Given the description of an element on the screen output the (x, y) to click on. 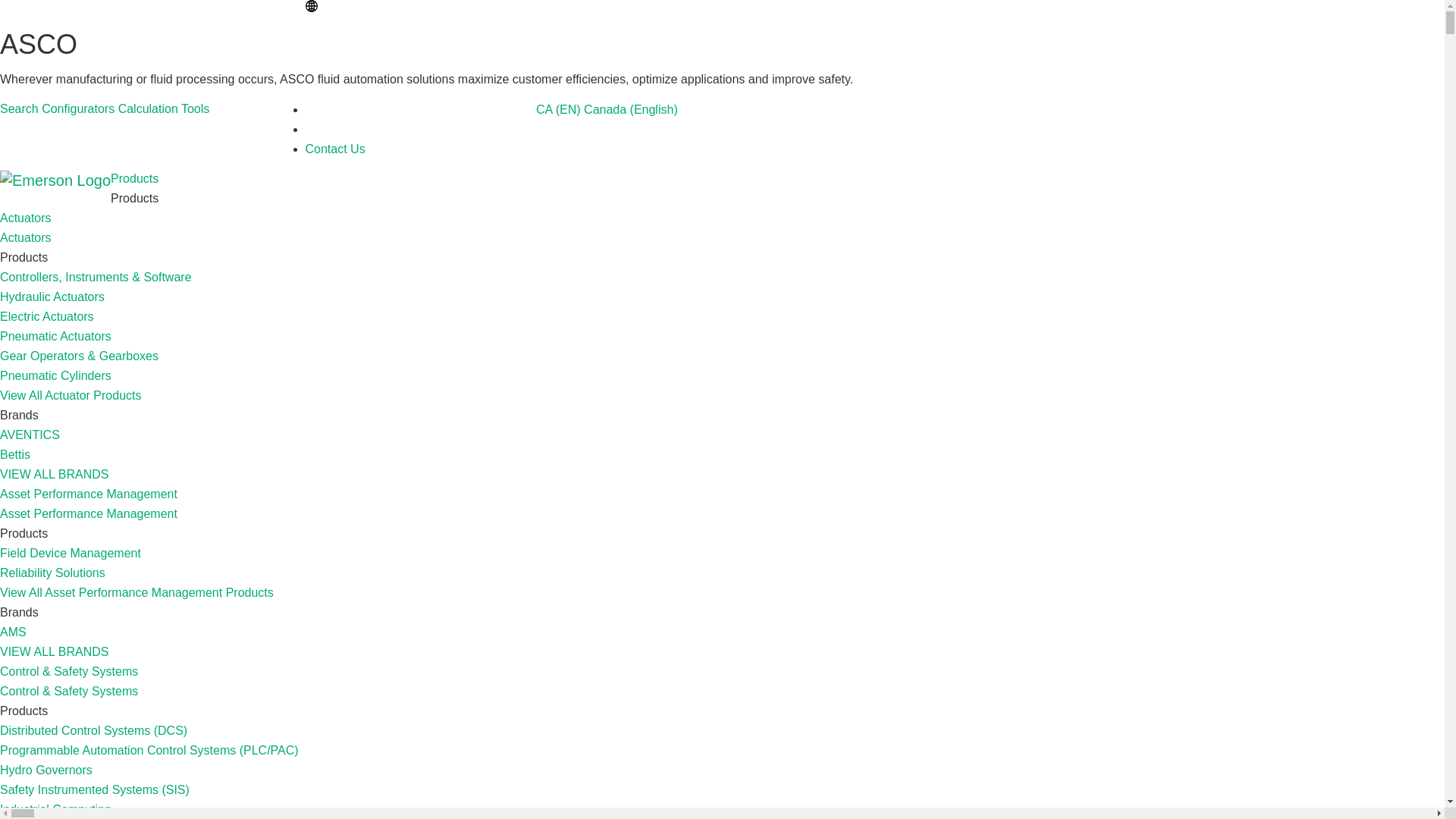
Asset Performance Management Element type: text (88, 513)
CA (EN) Canada (English) Element type: text (490, 109)
Control & Safety Systems Element type: text (69, 690)
Programmable Automation Control Systems (PLC/PAC) Element type: text (149, 749)
Hydraulic Actuators Element type: text (52, 296)
View All Actuator Products Element type: text (70, 395)
Calculation Tools Element type: text (164, 108)
Control & Safety Systems Element type: text (69, 671)
Actuators Element type: text (25, 217)
Products Element type: text (134, 178)
AMS Element type: text (13, 631)
Industrial Computing Element type: text (55, 809)
Controllers, Instruments & Software Element type: text (95, 276)
Gear Operators & Gearboxes Element type: text (79, 355)
Electric Actuators Element type: text (47, 316)
VIEW ALL BRANDS Element type: text (54, 651)
Safety Instrumented Systems (SIS) Element type: text (94, 789)
Pneumatic Cylinders Element type: text (55, 375)
Search Configurators Element type: text (59, 108)
Hydro Governors Element type: text (46, 769)
Pneumatic Actuators Element type: text (55, 335)
AVENTICS Element type: text (29, 434)
Contact Us Element type: text (334, 148)
Asset Performance Management Element type: text (88, 493)
Reliability Solutions Element type: text (52, 572)
Bettis Element type: text (15, 454)
Distributed Control Systems (DCS) Element type: text (93, 730)
VIEW ALL BRANDS Element type: text (54, 473)
Field Device Management Element type: text (70, 552)
View All Asset Performance Management Products Element type: text (136, 592)
Actuators Element type: text (25, 237)
